Given the description of an element on the screen output the (x, y) to click on. 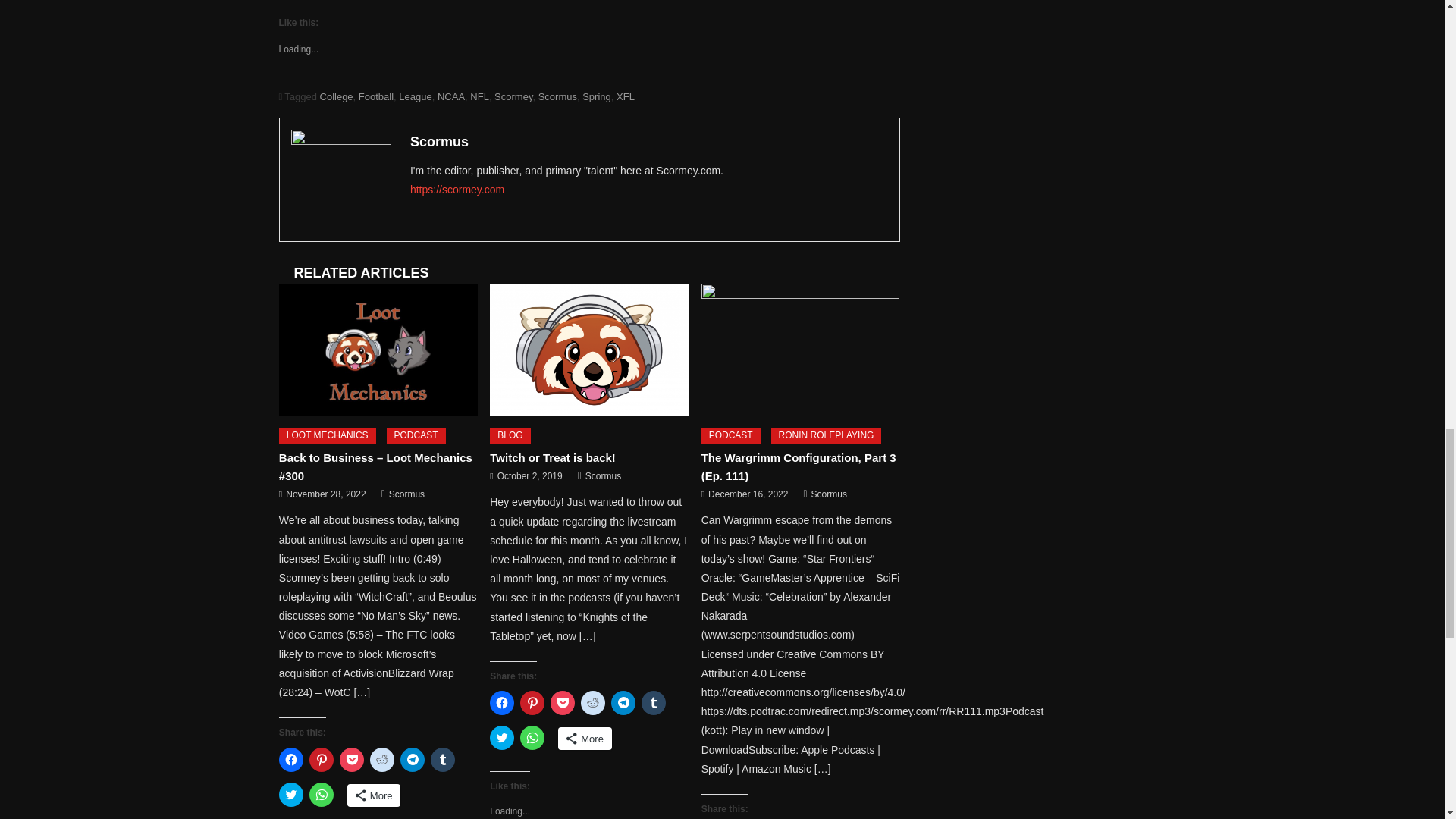
Click to share on Twitter (290, 794)
Click to share on Telegram (412, 759)
Football (375, 96)
Click to share on Reddit (381, 759)
Click to share on Pocket (351, 759)
College (336, 96)
League (414, 96)
Click to share on Facebook (290, 759)
Click to share on Tumblr (442, 759)
Click to share on Pinterest (320, 759)
